Given the description of an element on the screen output the (x, y) to click on. 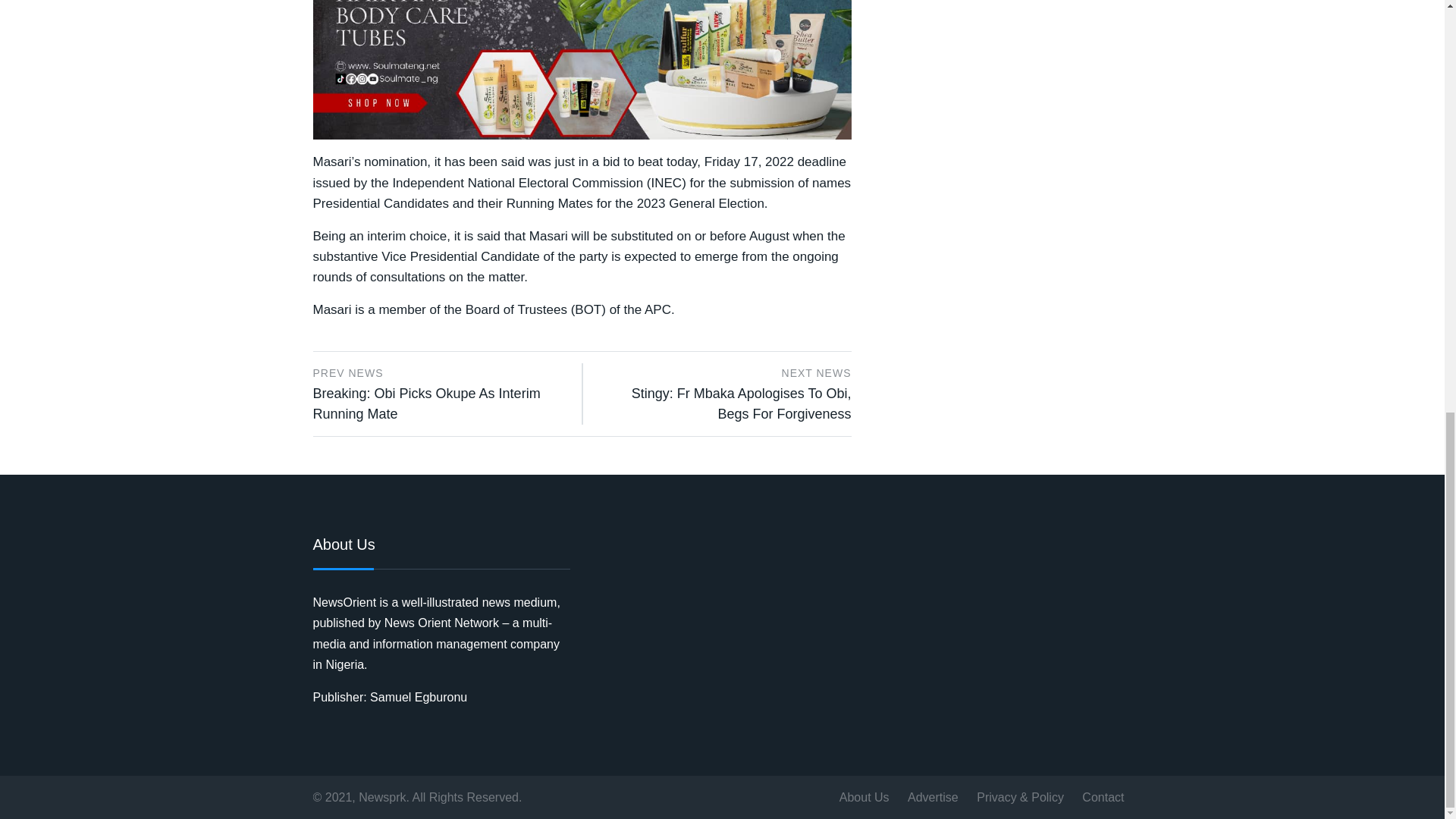
Advertise (932, 797)
About Us (863, 797)
Breaking: Obi Picks Okupe As Interim Running Mate (426, 403)
Stingy: Fr Mbaka Apologises To Obi, Begs For Forgiveness (741, 403)
Contact (1102, 797)
